Given the description of an element on the screen output the (x, y) to click on. 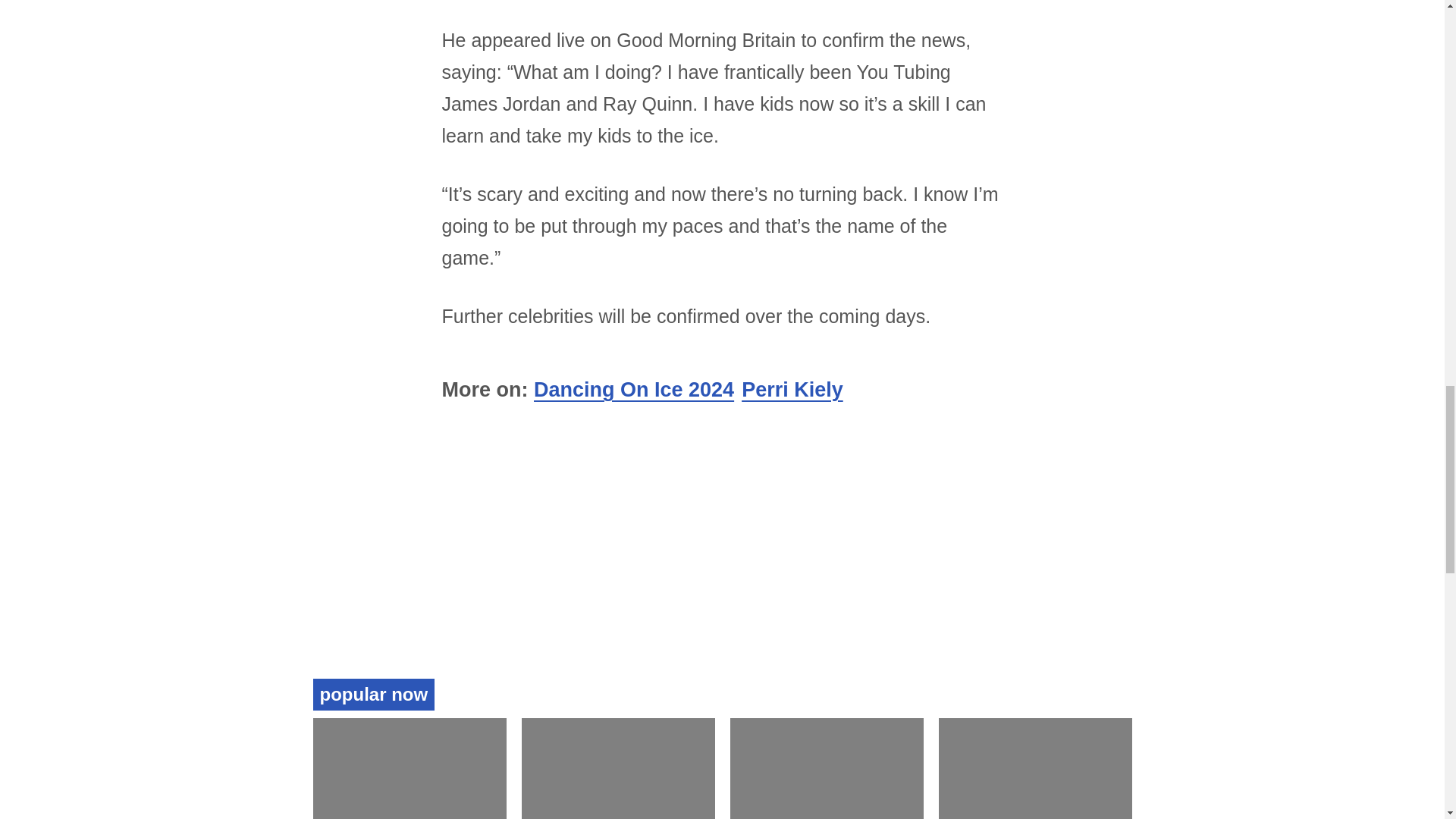
Dancing On Ice 2024 (633, 177)
Full List of BBC's Top Earners Revealed (1013, 424)
Perri Kiely (792, 177)
Squid Game season 2 release date and trailer revealed (390, 433)
